Given the description of an element on the screen output the (x, y) to click on. 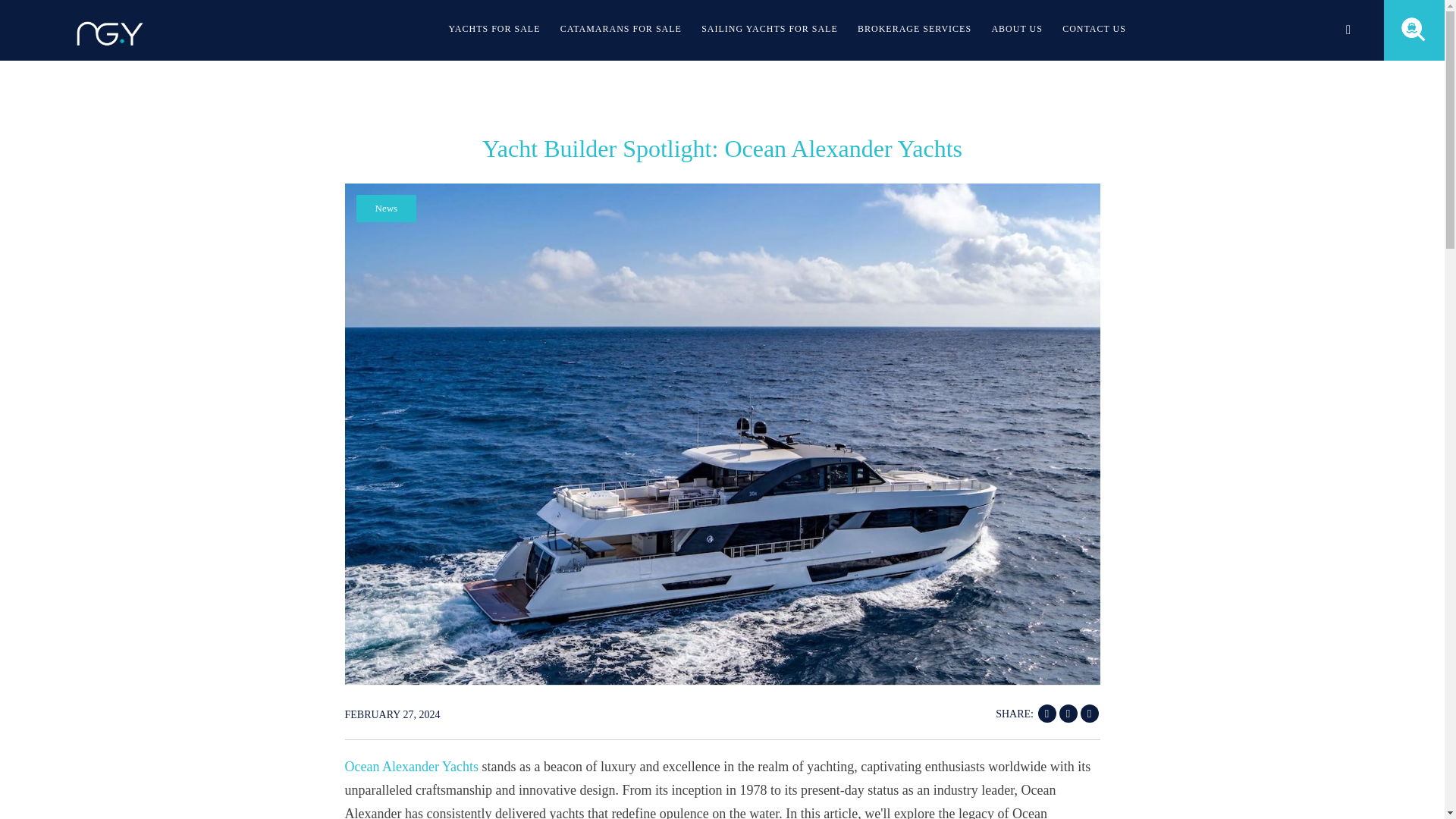
Twitter Post (1067, 713)
YACHTS FOR SALE (494, 30)
CATAMARANS FOR SALE (620, 30)
Linkedin Post (1088, 713)
Facebook Share (1045, 713)
Next Generation Yachting (109, 45)
